Given the description of an element on the screen output the (x, y) to click on. 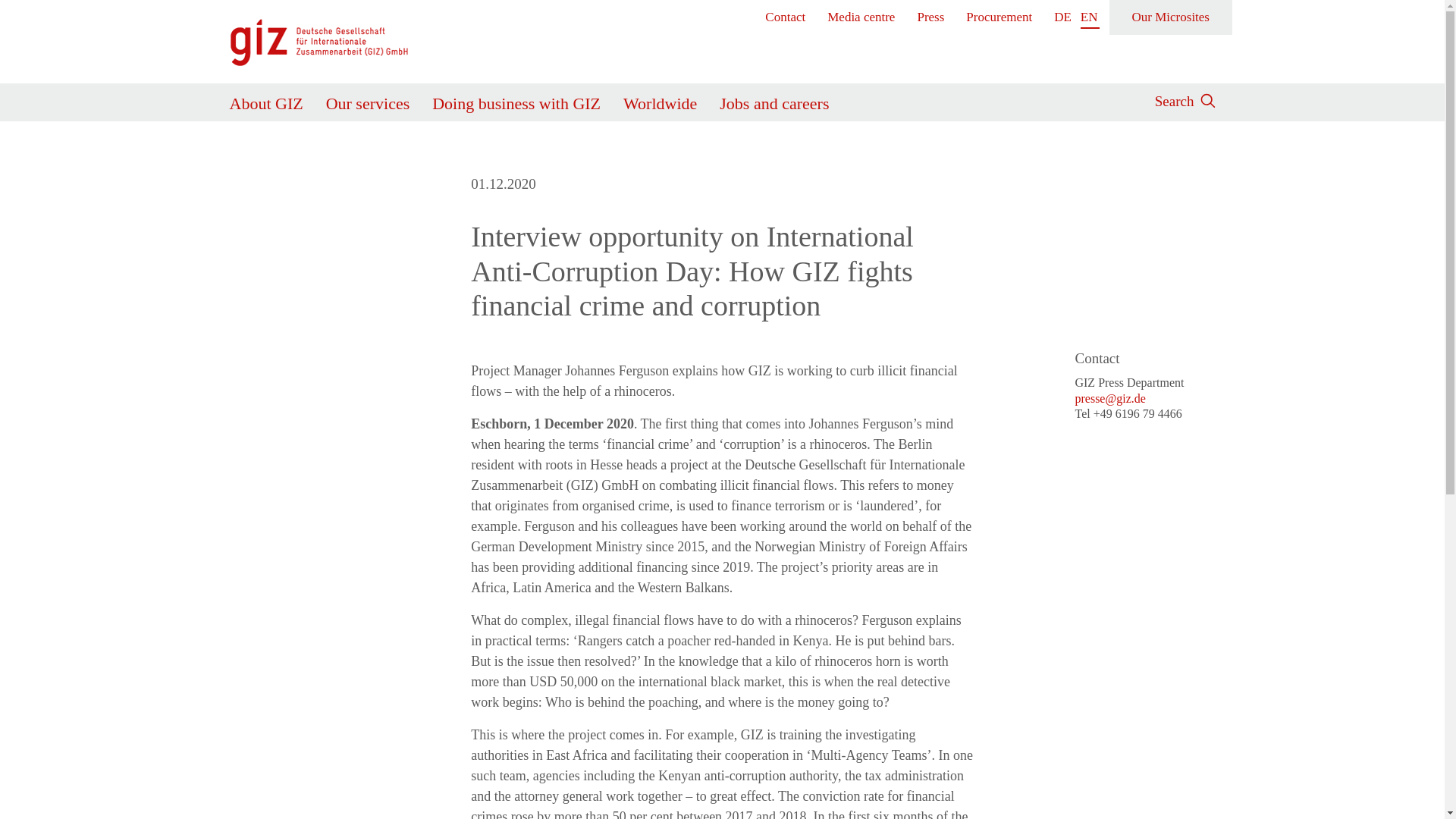
Jobs and careers (773, 99)
Search (986, 151)
Media centre (861, 17)
Doing business with GIZ (515, 99)
About GIZ (265, 99)
Our Microsites (1170, 17)
Search (1173, 98)
Contact (785, 17)
DE (1063, 17)
Procurement (999, 17)
